Given the description of an element on the screen output the (x, y) to click on. 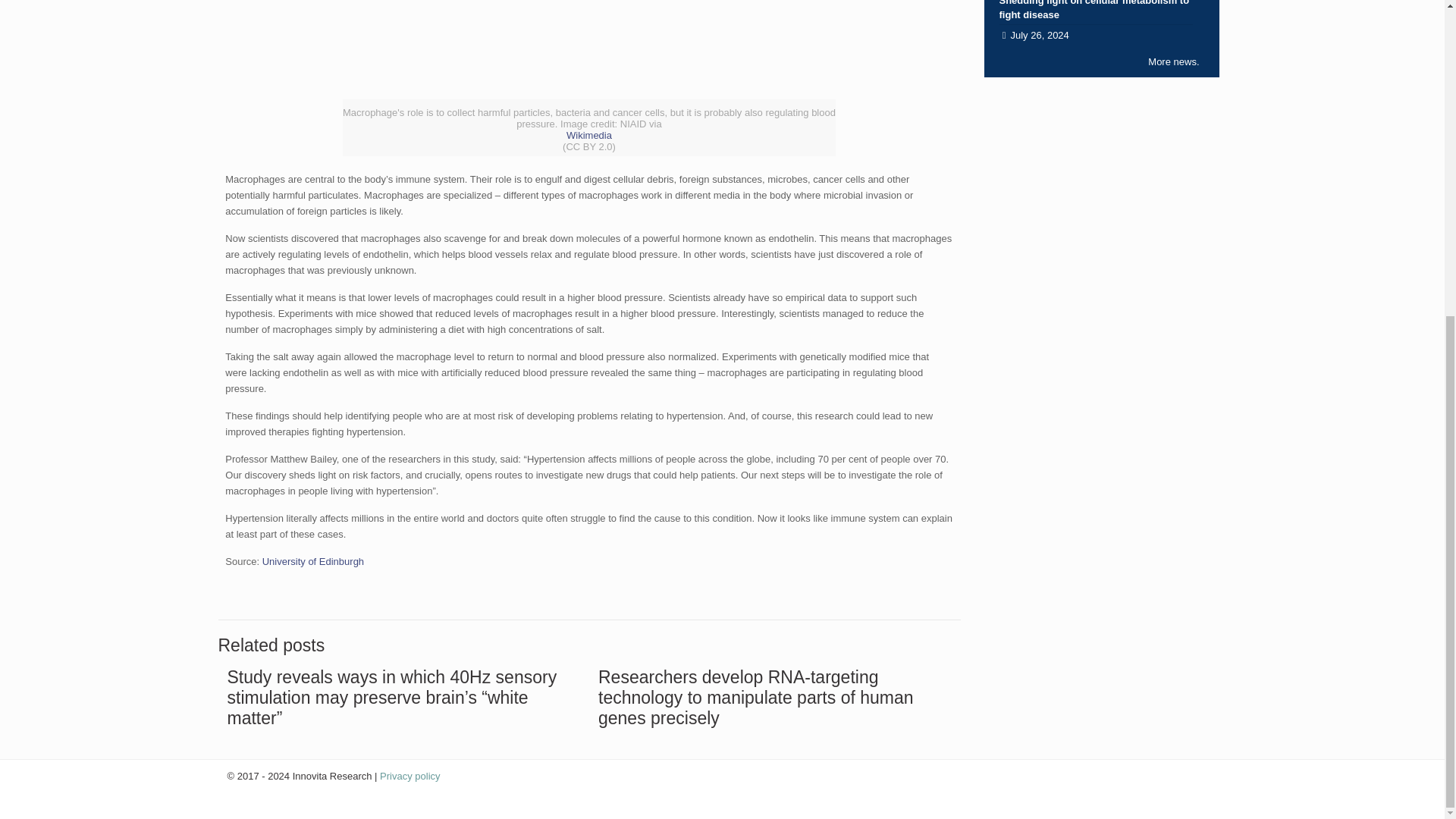
Wikimedia (588, 134)
University of Edinburgh (313, 561)
